Given the description of an element on the screen output the (x, y) to click on. 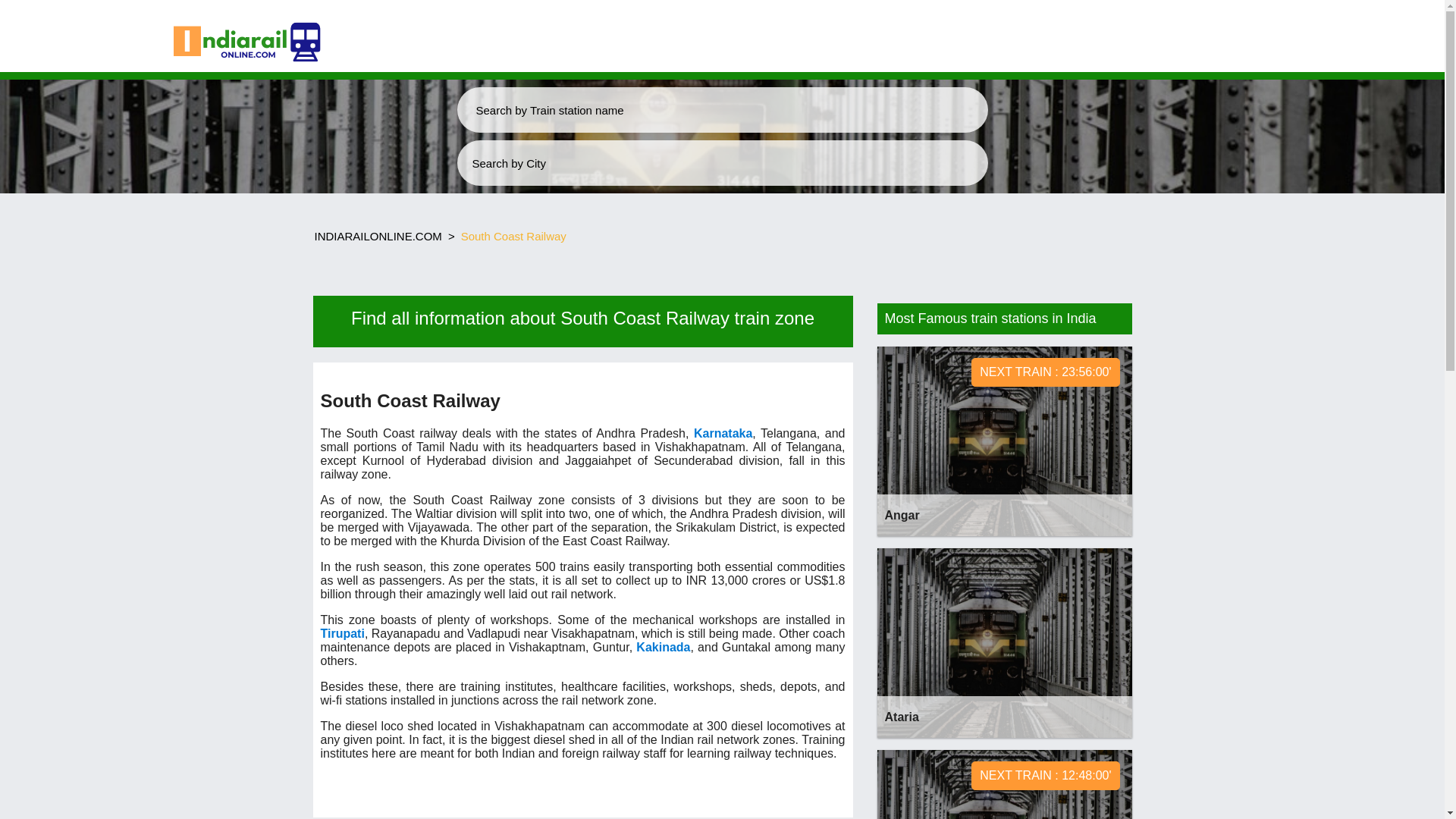
Kakinada Station (1003, 784)
Kakinada (663, 646)
INDIARAILONLINE.COM (1003, 441)
Tirupati (663, 646)
  Ataria (377, 236)
Tirupati station (342, 633)
Karnataka (1003, 642)
South Coast Railway (342, 633)
